Given the description of an element on the screen output the (x, y) to click on. 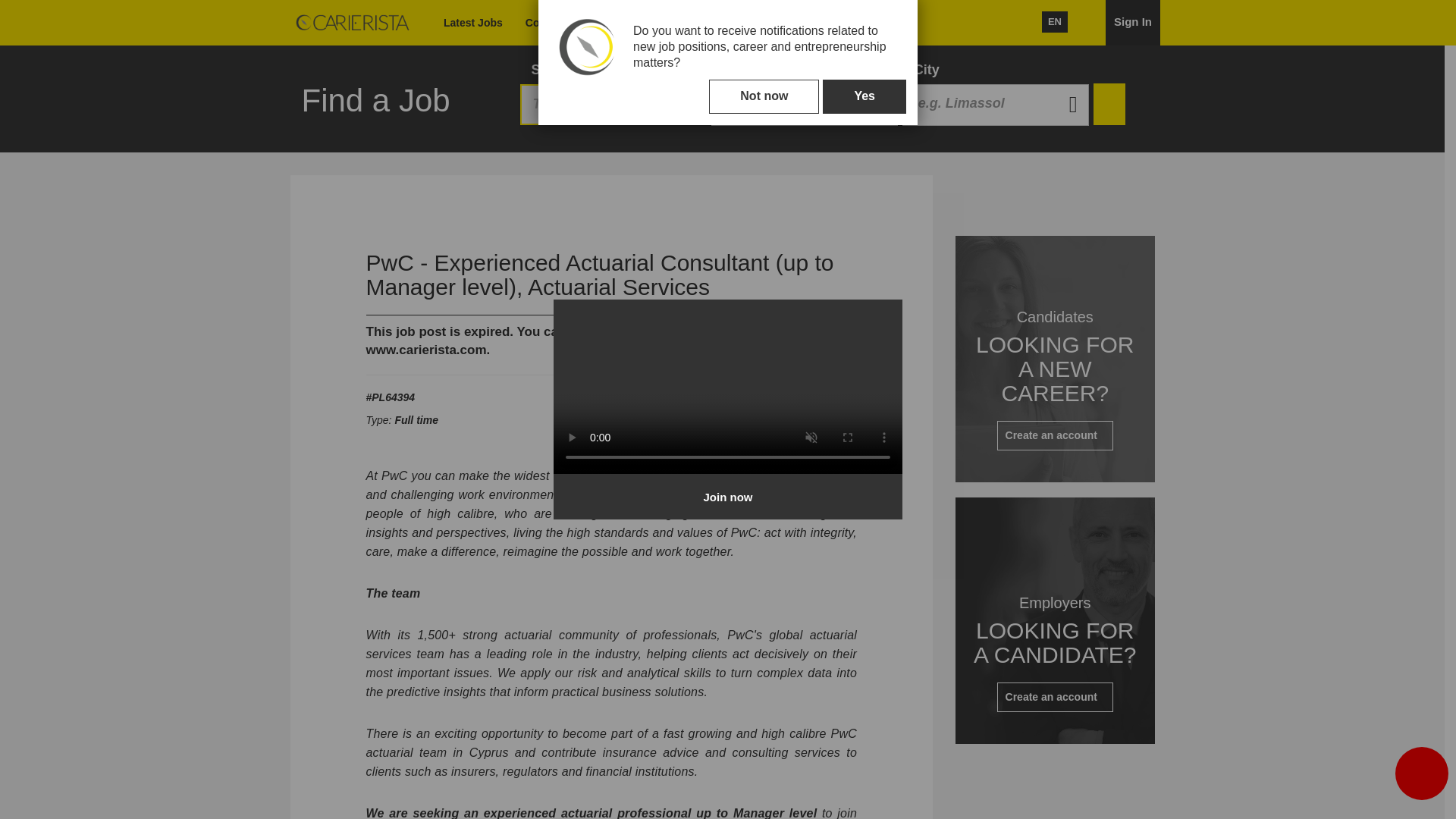
Sign In (1132, 22)
e.g. Forex (804, 105)
Register (855, 22)
Blog (617, 22)
Companies (553, 22)
Academy (804, 105)
e.g. Limassol (785, 22)
FAQs (995, 105)
Pricing (665, 22)
